Given the description of an element on the screen output the (x, y) to click on. 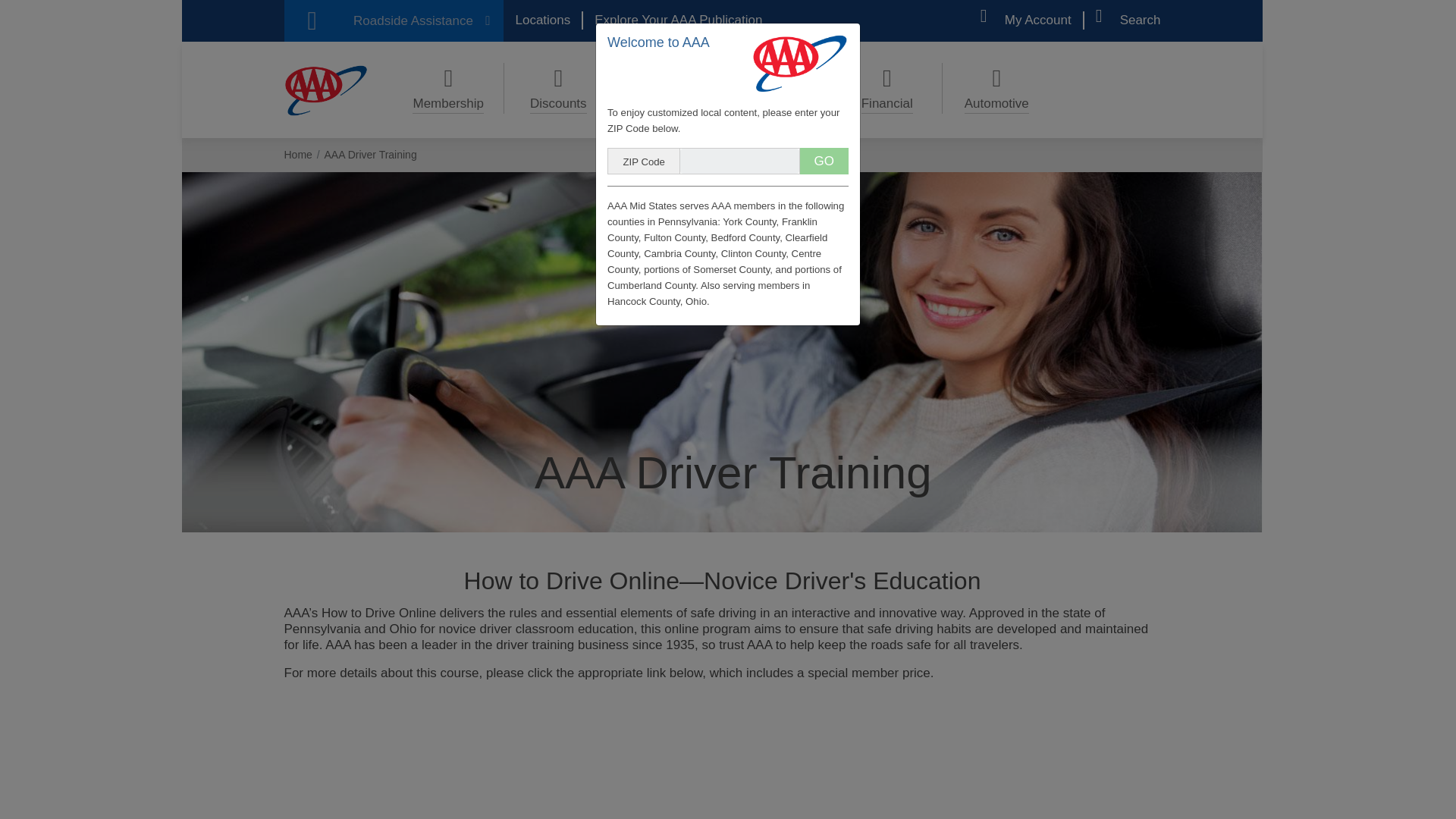
My Account (1025, 20)
Roadside Assistance (392, 20)
Explore Your AAA Publication (678, 20)
Locations (543, 20)
Discounts (557, 88)
Membership (448, 88)
